Given the description of an element on the screen output the (x, y) to click on. 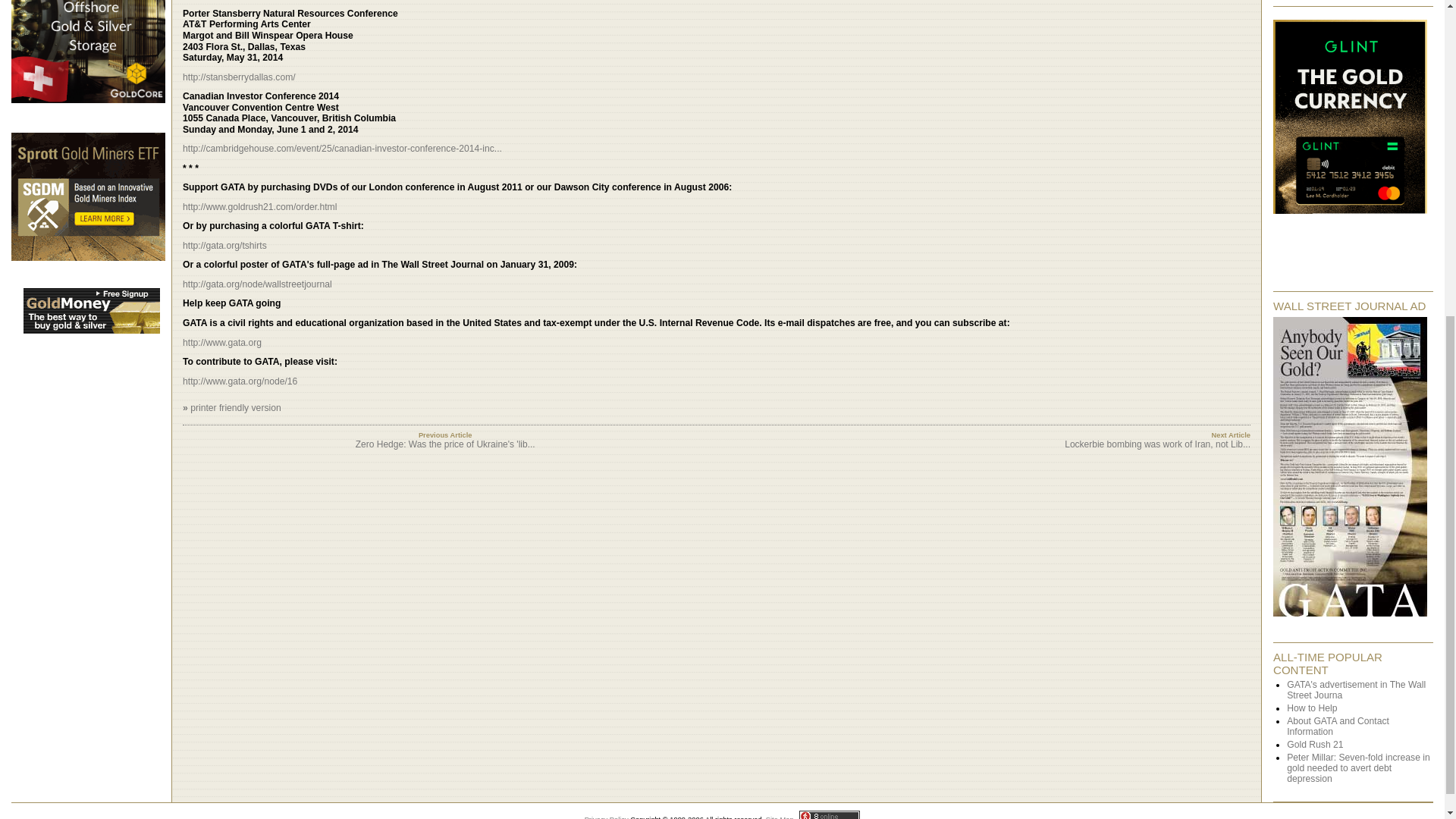
Lockerbie bombing was work of Iran, not Lib... (1157, 443)
Display a printer-friendly version of this page. (235, 407)
Zero Hedge: Was the price of Ukraine's 'lib... (445, 443)
printer friendly version (235, 407)
